Given the description of an element on the screen output the (x, y) to click on. 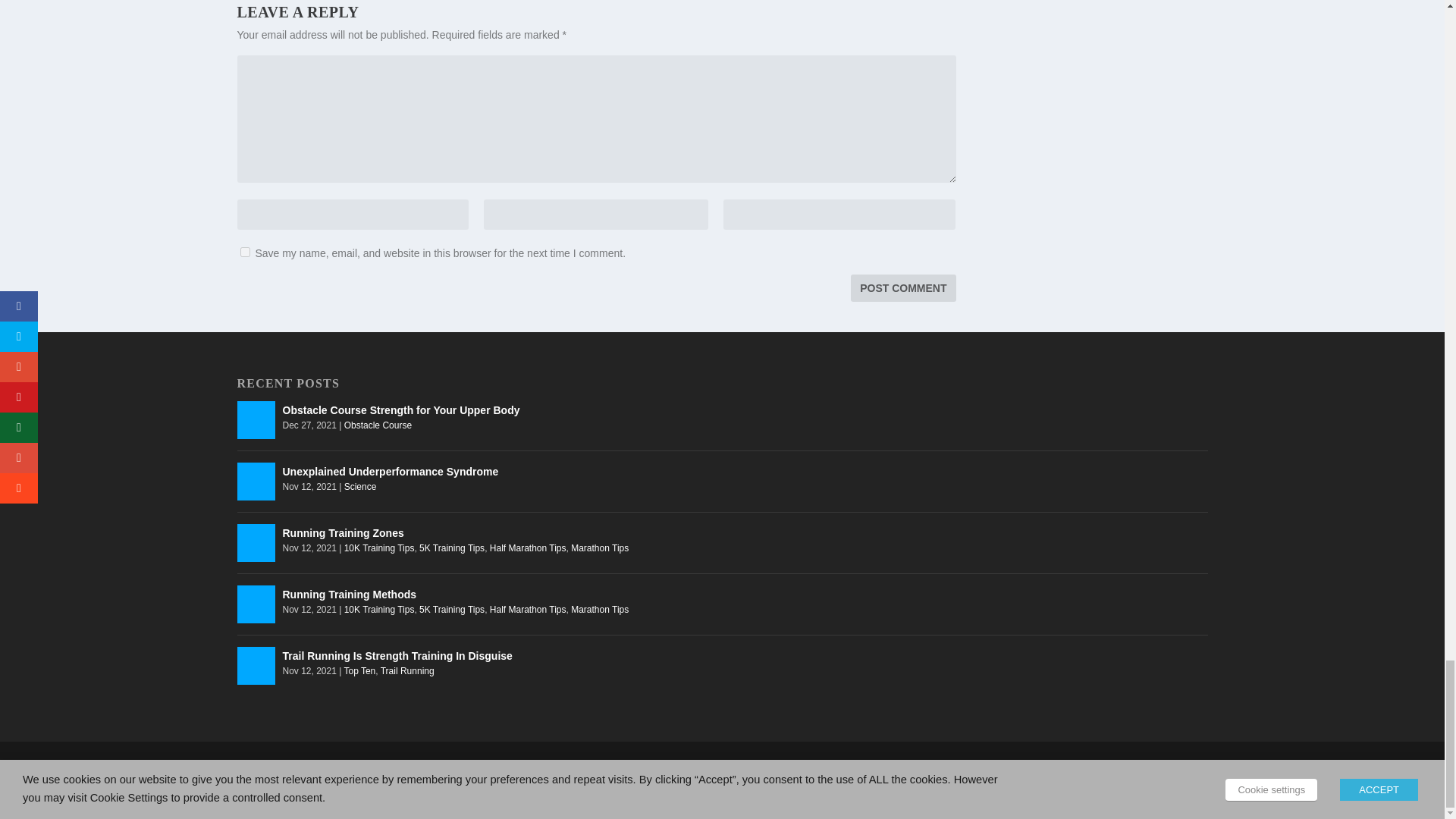
Post Comment (902, 288)
yes (244, 252)
